Given the description of an element on the screen output the (x, y) to click on. 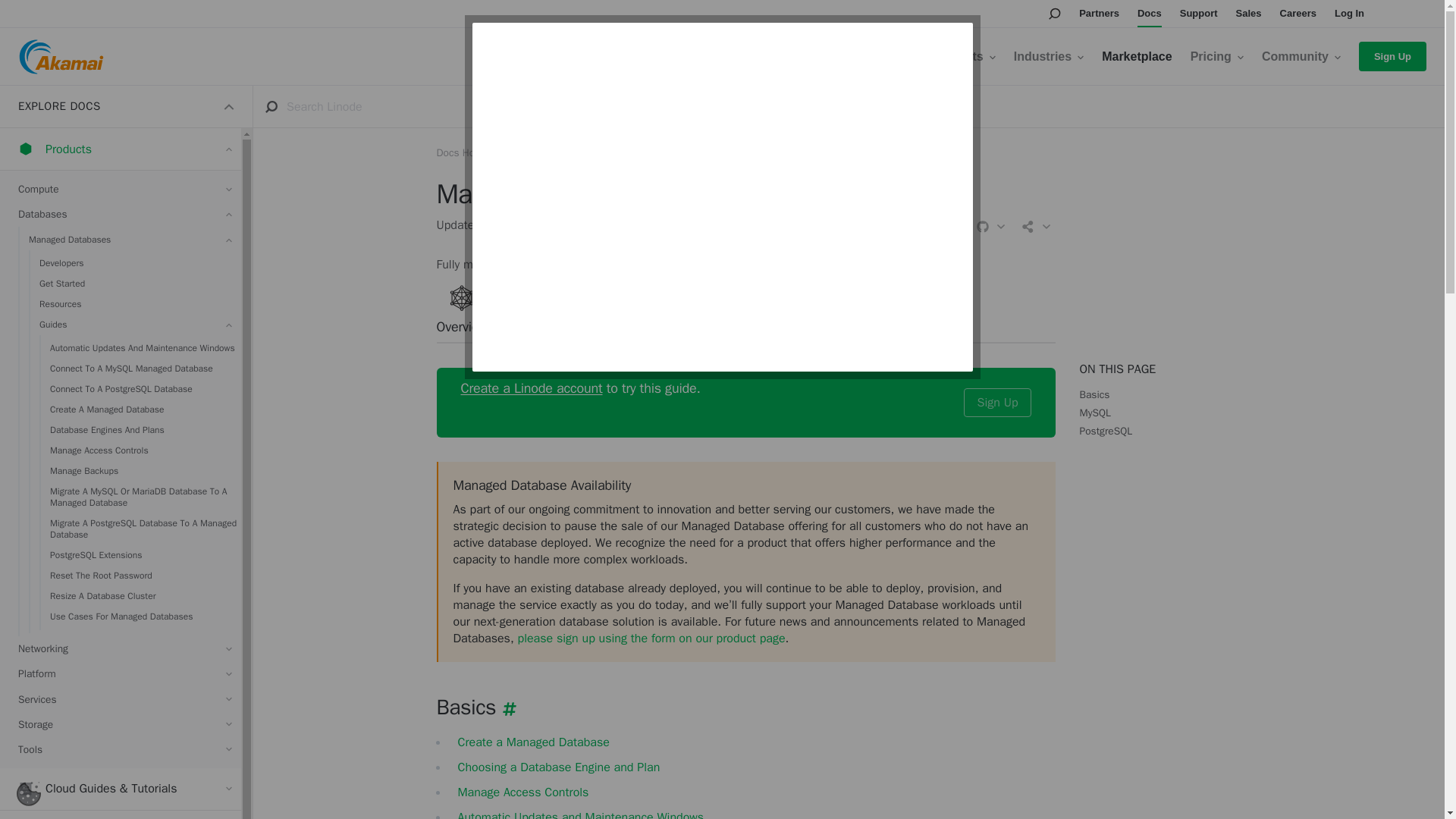
Careers (1297, 13)
linode.com Cookie Preferences (28, 793)
Partners (1098, 13)
Docs (1149, 13)
Sign Up (1392, 55)
Products (962, 55)
Pricing (1217, 55)
Community (1301, 55)
Sales (1249, 13)
Support (1198, 13)
